Given the description of an element on the screen output the (x, y) to click on. 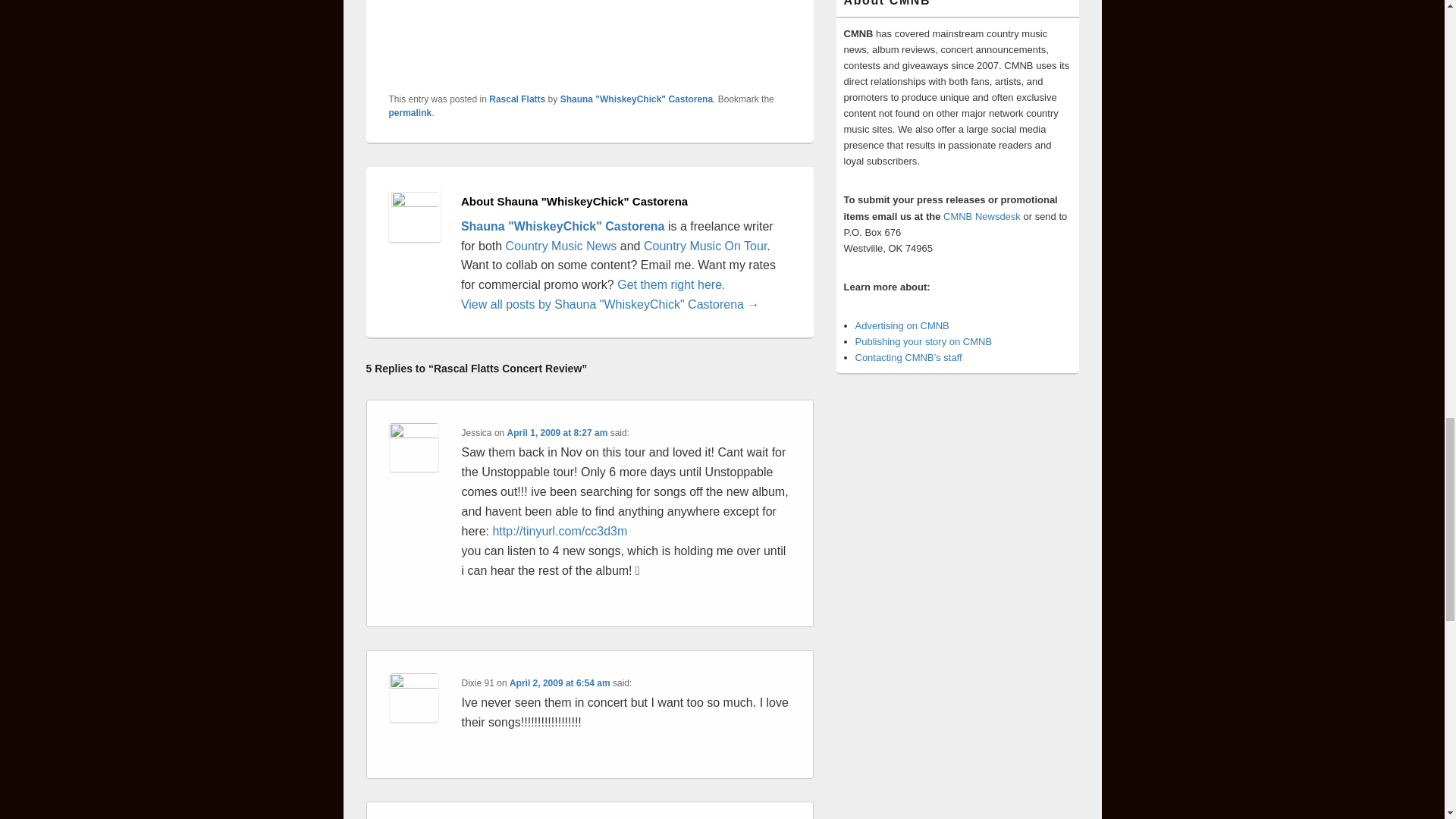
Shauna "WhiskeyChick" Castorena (636, 99)
Permalink to Rascal Flatts Concert Review (409, 112)
Shauna "WhiskeyChick" Castorena (563, 226)
Rascal Flatts (516, 99)
Get them right here. (671, 284)
permalink (409, 112)
Country Music On Tour (705, 245)
Country Music News (558, 245)
April 2, 2009 at 6:54 am (559, 683)
April 1, 2009 at 8:27 am (557, 432)
